Given the description of an element on the screen output the (x, y) to click on. 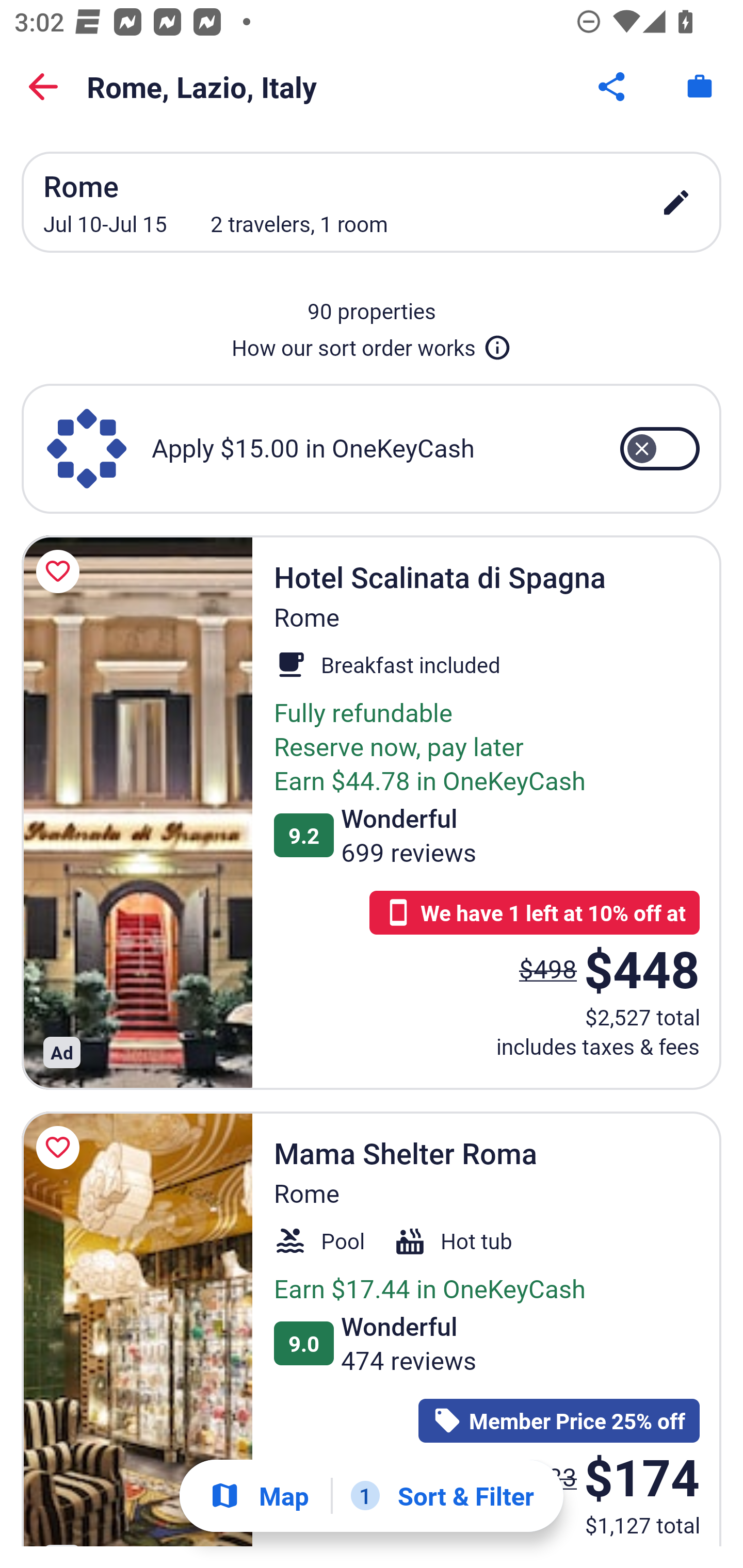
Back (43, 86)
Share Button (612, 86)
Trips. Button (699, 86)
Rome Jul 10-Jul 15 2 travelers, 1 room edit (371, 202)
How our sort order works (371, 344)
Save Hotel Scalinata di Spagna to a trip (61, 571)
Hotel Scalinata di Spagna (136, 811)
$498 The price was $498 (547, 968)
Save Mama Shelter Roma  to a trip (61, 1147)
Mama Shelter Roma  (136, 1328)
1 Sort & Filter 1 Filter applied. Filters Button (442, 1495)
Show map Map Show map Button (258, 1495)
